Given the description of an element on the screen output the (x, y) to click on. 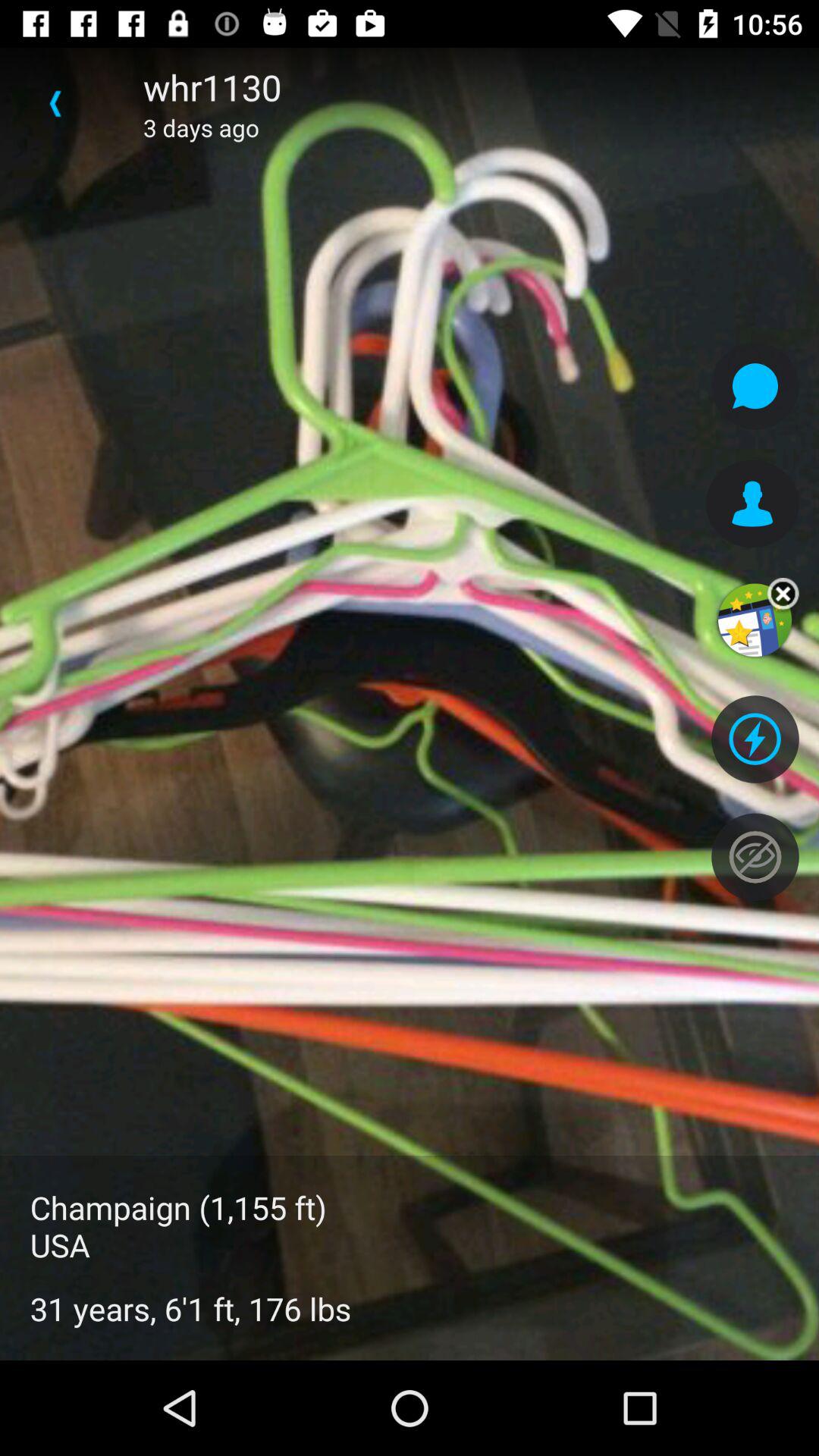
click item above the champaign 1 155 icon (55, 103)
